Given the description of an element on the screen output the (x, y) to click on. 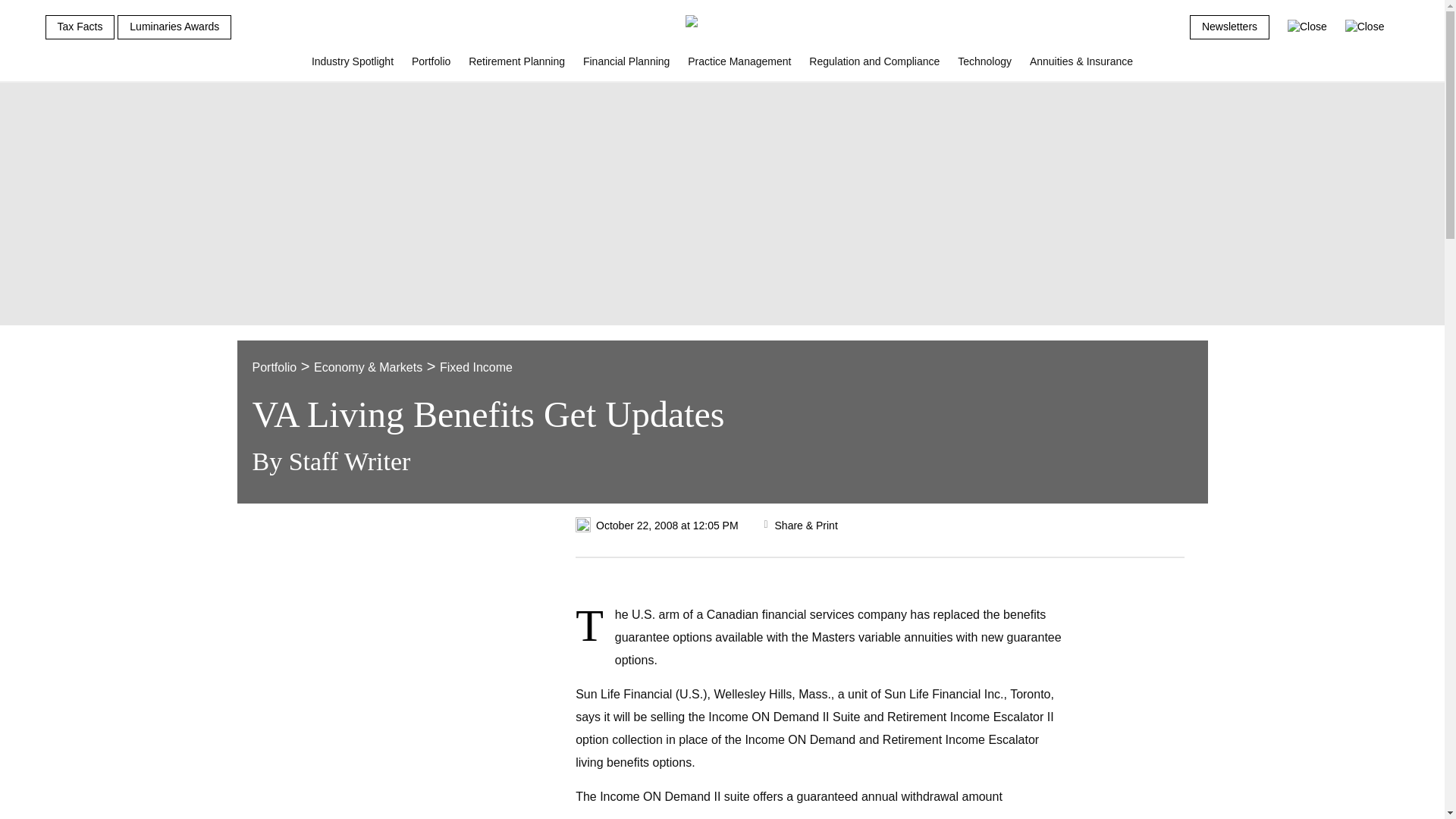
Luminaries Awards (174, 27)
Industry Spotlight (352, 67)
Tax Facts (80, 27)
Newsletters (1229, 27)
